Given the description of an element on the screen output the (x, y) to click on. 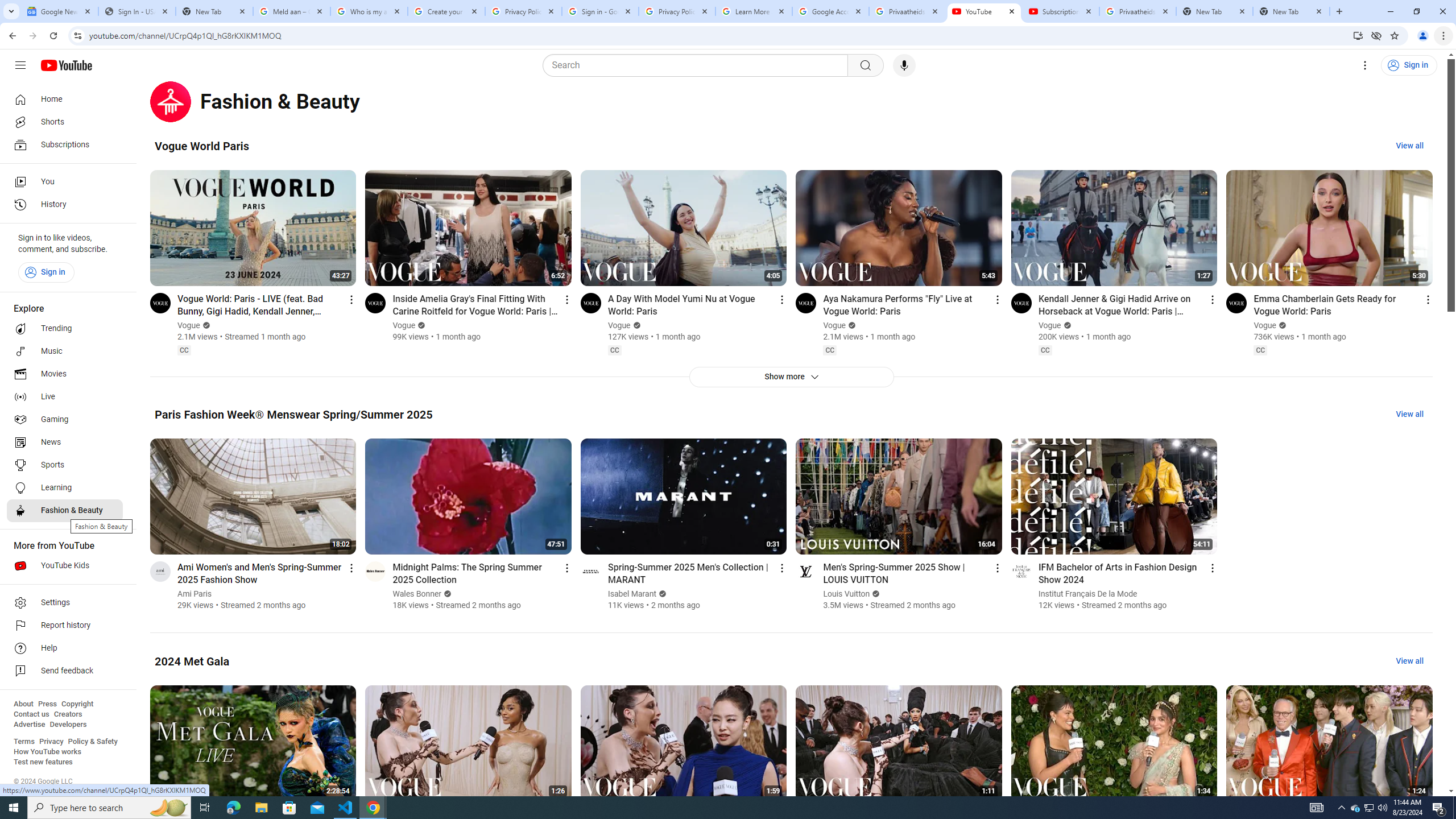
About (23, 703)
YouTube Home (66, 65)
View all (1409, 660)
Live (64, 396)
Create your Google Account (446, 11)
Gaming (64, 419)
